Given the description of an element on the screen output the (x, y) to click on. 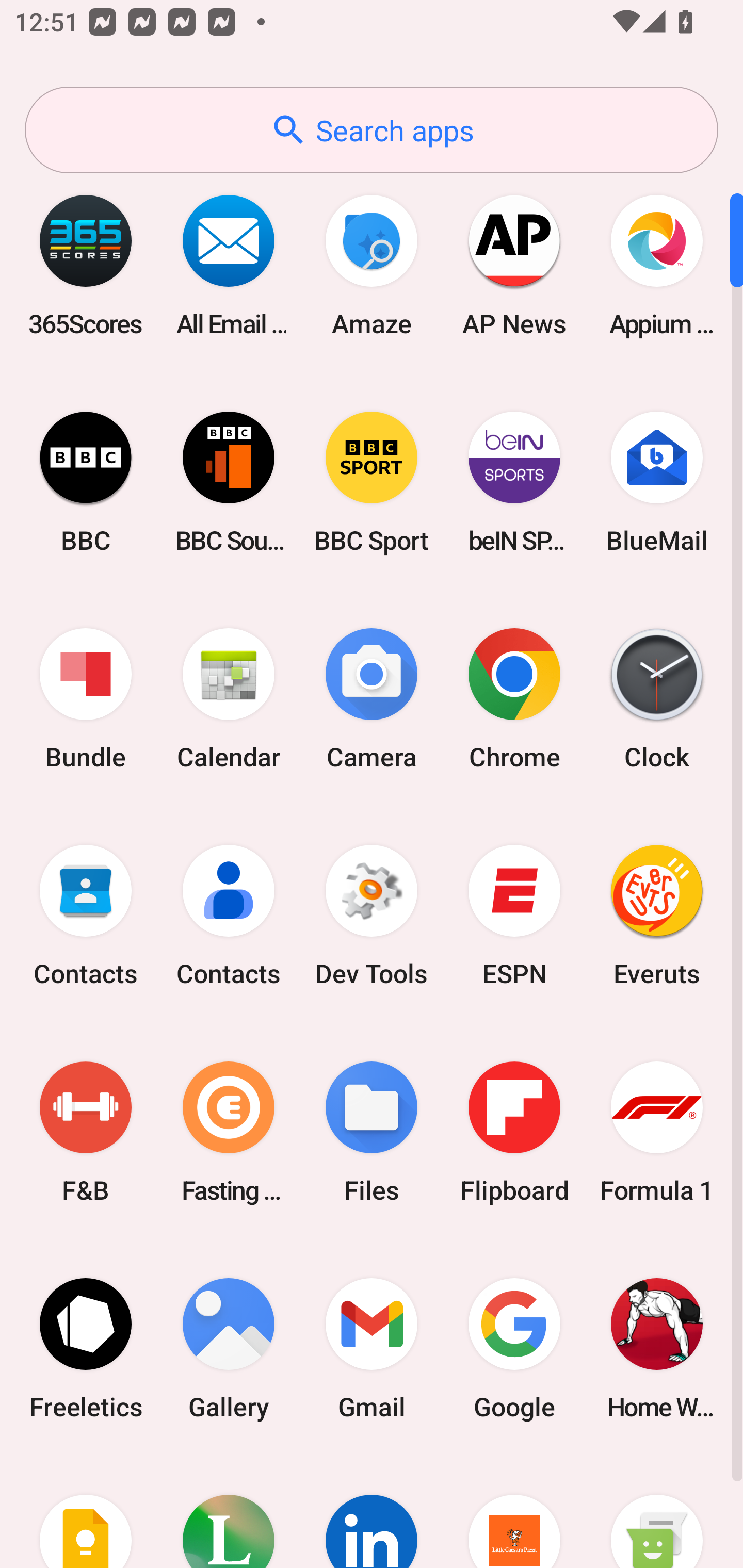
  Search apps (371, 130)
365Scores (85, 264)
All Email Connect (228, 264)
Amaze (371, 264)
AP News (514, 264)
Appium Settings (656, 264)
BBC (85, 482)
BBC Sounds (228, 482)
BBC Sport (371, 482)
beIN SPORTS (514, 482)
BlueMail (656, 482)
Bundle (85, 699)
Calendar (228, 699)
Camera (371, 699)
Chrome (514, 699)
Clock (656, 699)
Contacts (85, 915)
Contacts (228, 915)
Dev Tools (371, 915)
ESPN (514, 915)
Everuts (656, 915)
F&B (85, 1131)
Fasting Coach (228, 1131)
Files (371, 1131)
Flipboard (514, 1131)
Formula 1 (656, 1131)
Freeletics (85, 1348)
Gallery (228, 1348)
Gmail (371, 1348)
Google (514, 1348)
Home Workout (656, 1348)
Keep Notes (85, 1512)
Lifesum (228, 1512)
LinkedIn (371, 1512)
Little Caesars Pizza (514, 1512)
Messaging (656, 1512)
